Given the description of an element on the screen output the (x, y) to click on. 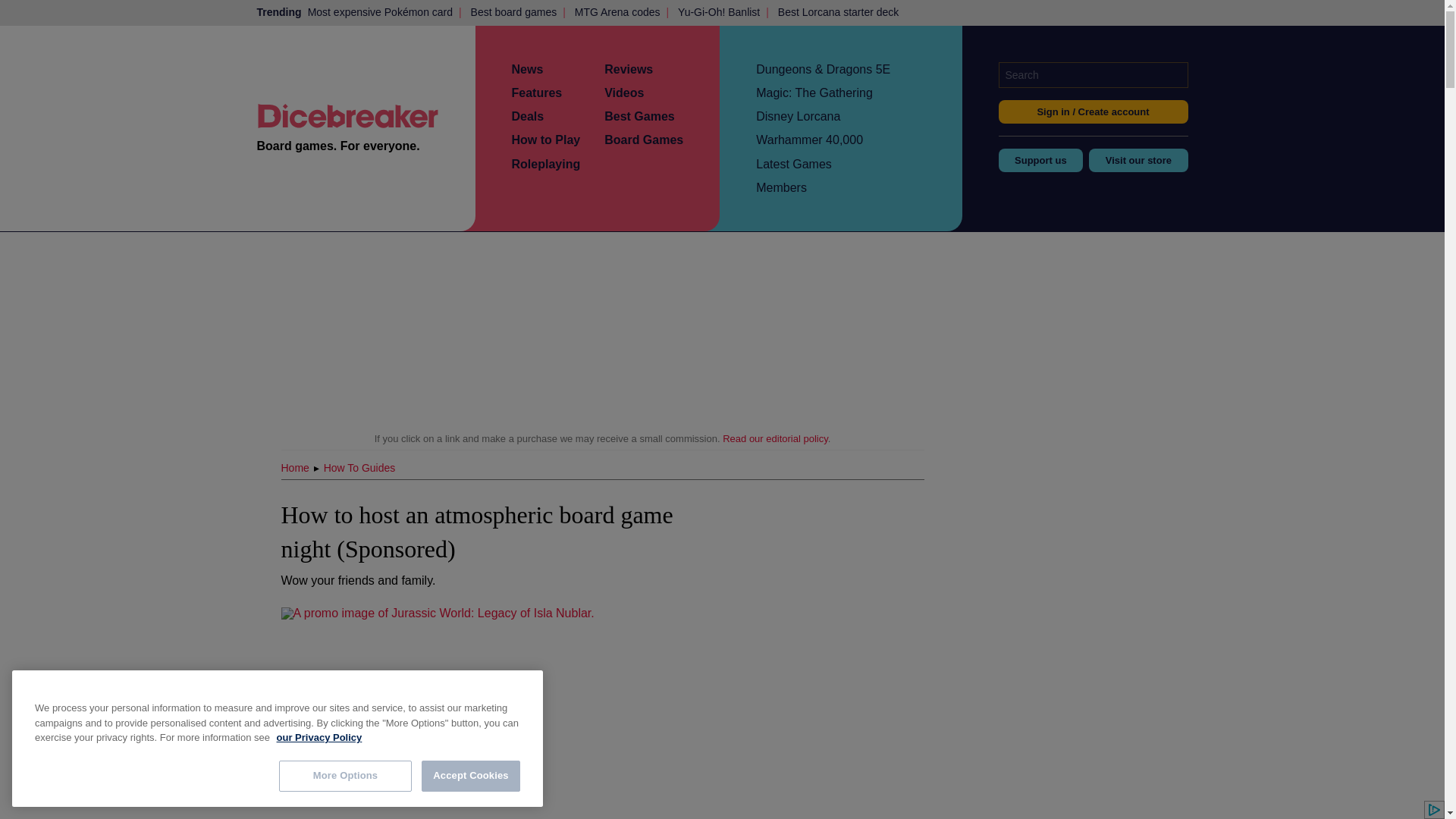
Reviews (628, 69)
Roleplaying (545, 164)
Best Games (639, 115)
Magic: The Gathering (813, 92)
Home (296, 467)
Board Games (643, 139)
Read our editorial policy (775, 438)
Videos (623, 92)
News (527, 69)
Members (780, 187)
